Given the description of an element on the screen output the (x, y) to click on. 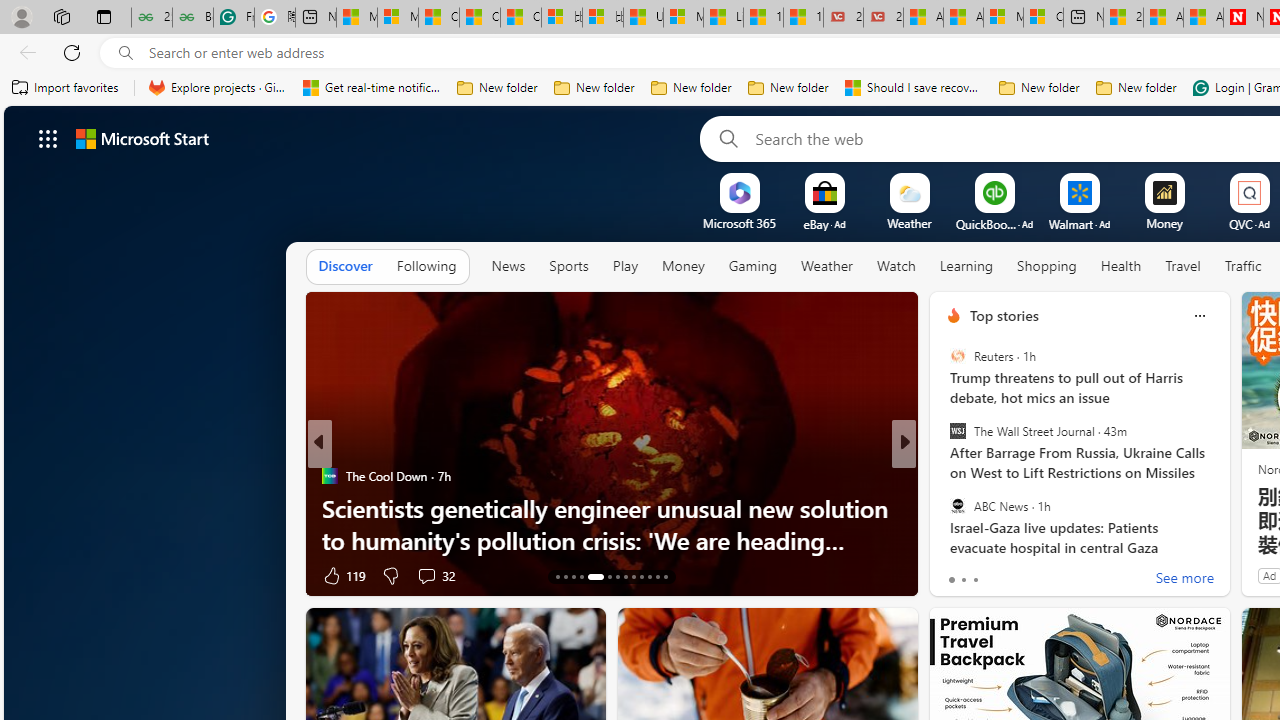
View comments 82 Comment (1051, 574)
View comments 5 Comment (1036, 575)
USA TODAY - MSN (643, 17)
Top stories (1003, 315)
View comments 82 Comment (1042, 575)
15 Ways Modern Life Contradicts the Teachings of Jesus (803, 17)
